Given the description of an element on the screen output the (x, y) to click on. 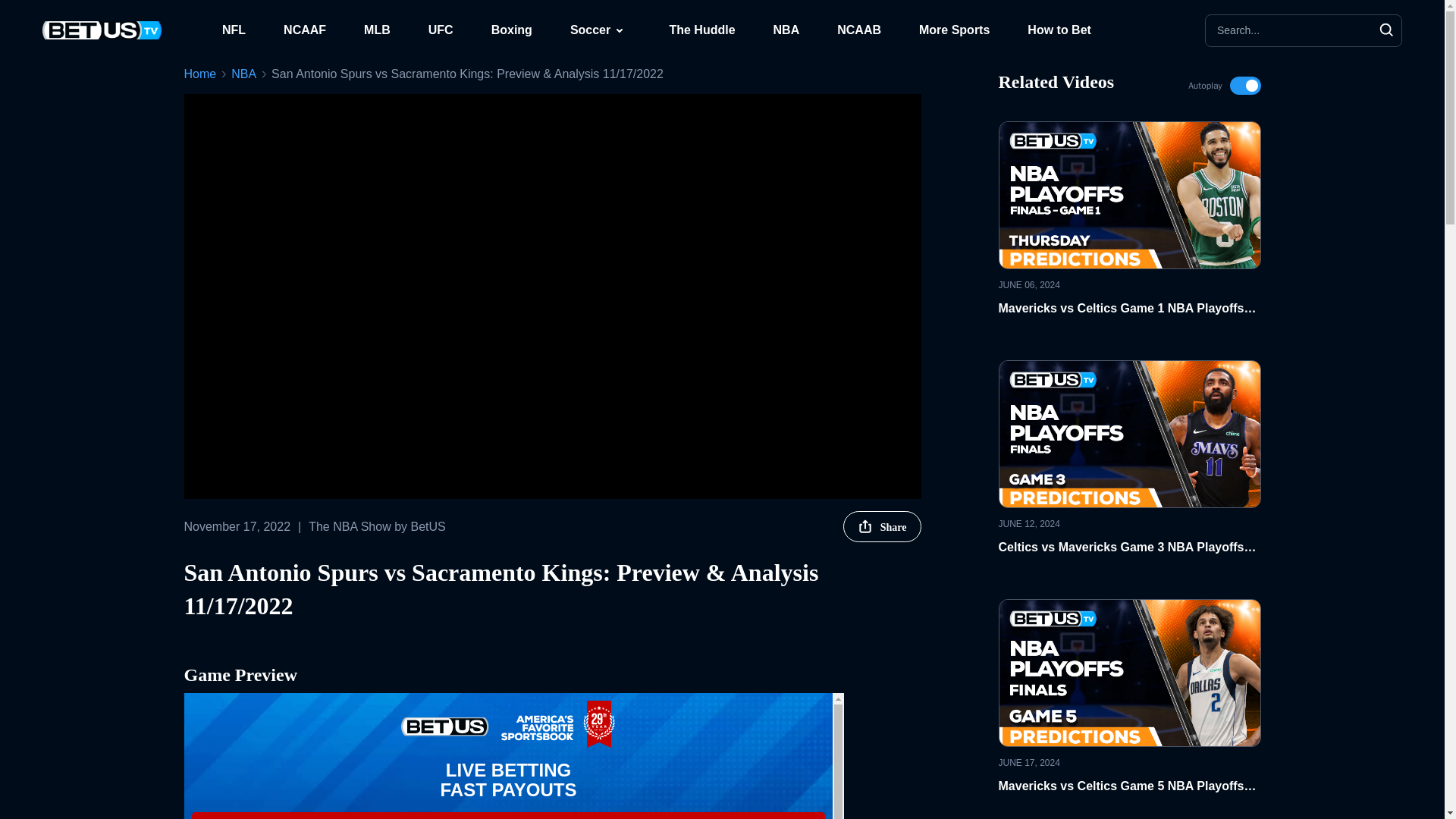
The Huddle (701, 30)
How to Bet (1058, 30)
Home (199, 73)
More Sports (954, 30)
